Given the description of an element on the screen output the (x, y) to click on. 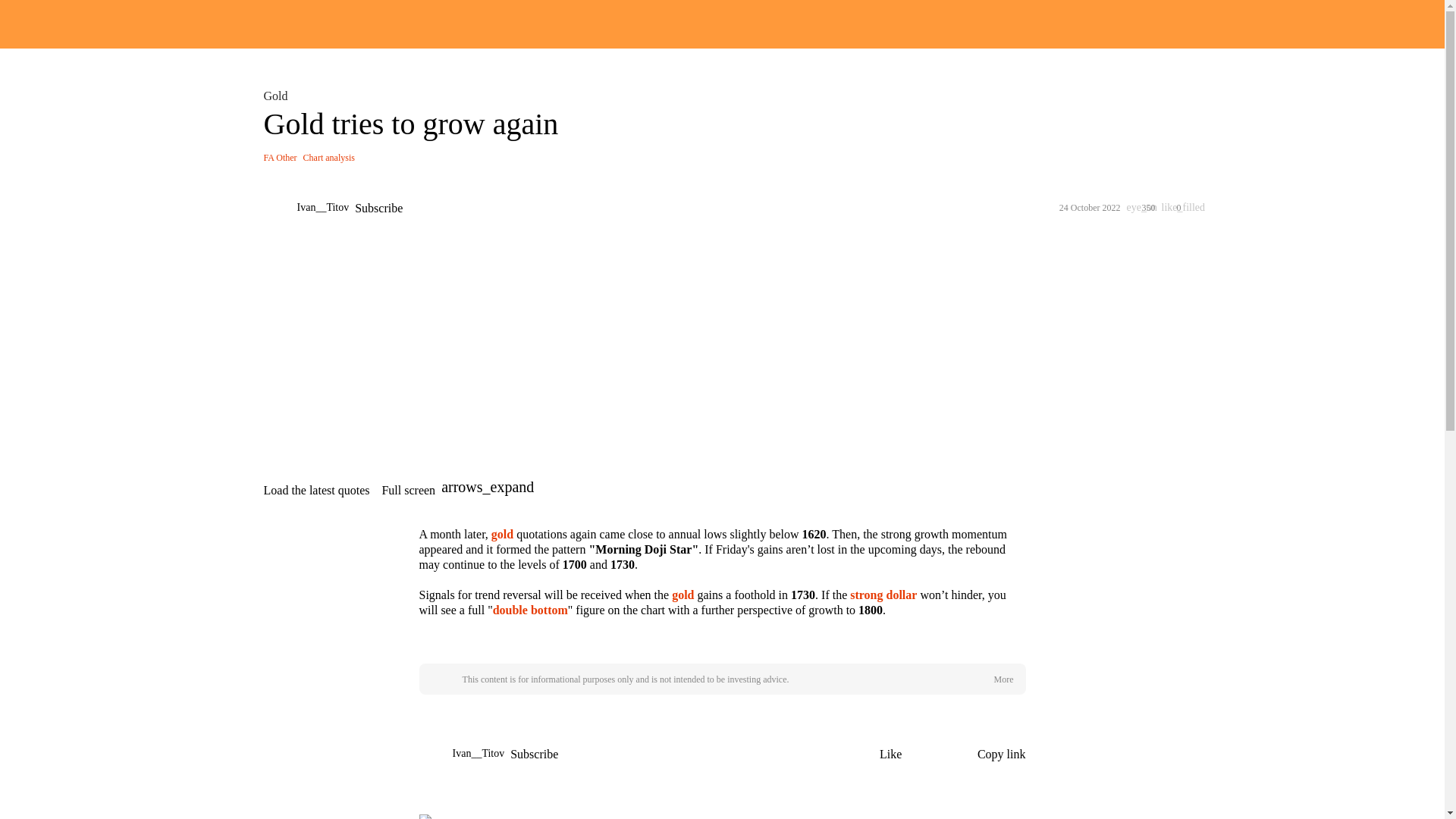
gold (502, 533)
Gold (278, 96)
strong dollar (883, 594)
FA Other (280, 157)
More (1002, 679)
Chart analysis (328, 157)
double bottom (530, 609)
gold (682, 594)
